Given the description of an element on the screen output the (x, y) to click on. 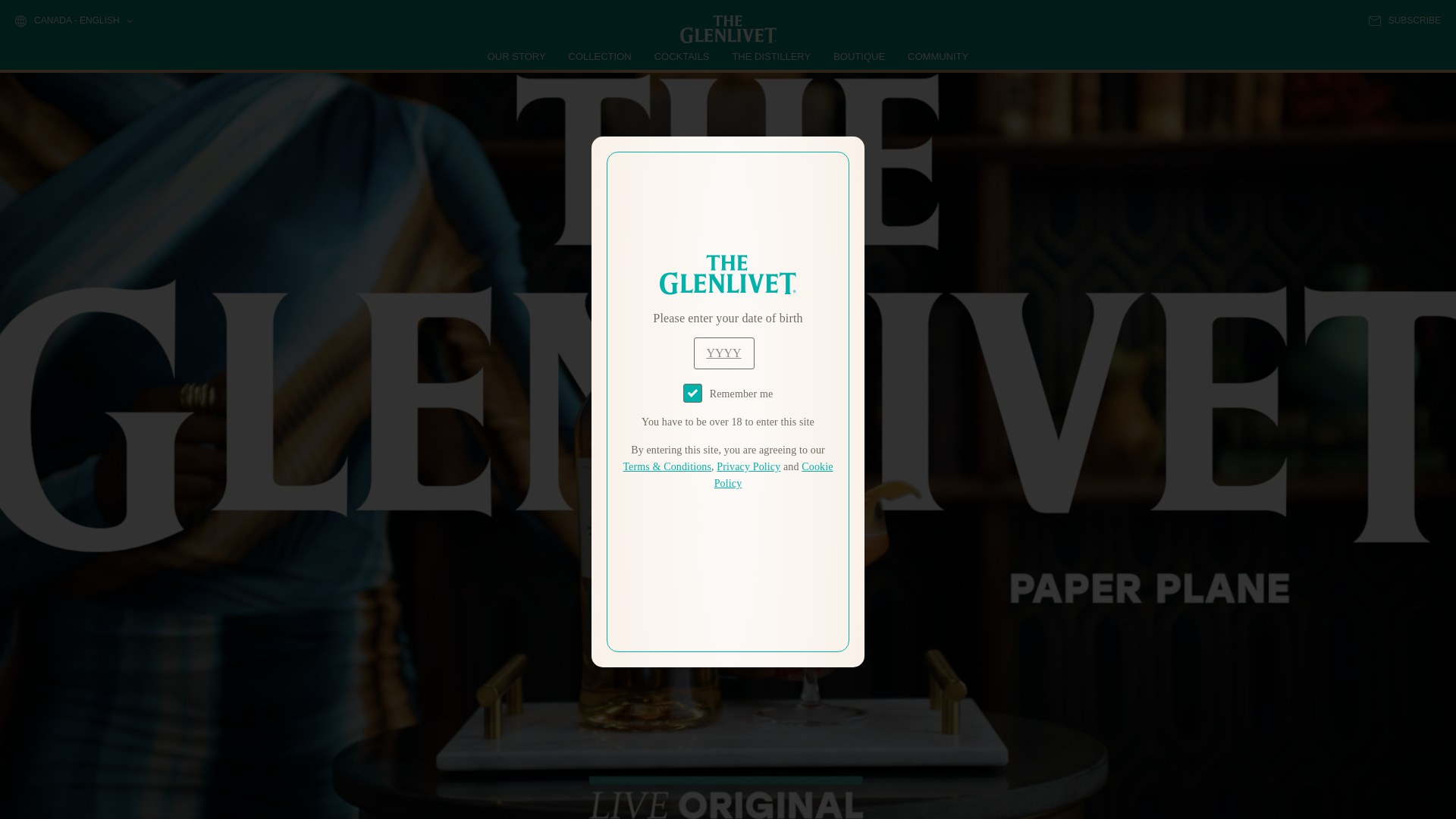
year (723, 353)
Cookie Policy (773, 474)
BOUTIQUE (858, 56)
COMMUNITY (937, 56)
Privacy Policy (748, 466)
CANADA - ENGLISH (73, 21)
COCKTAILS (681, 56)
OUR STORY (516, 56)
COLLECTION (600, 56)
SUBSCRIBE (1404, 20)
THE DISTILLERY (771, 56)
